Given the description of an element on the screen output the (x, y) to click on. 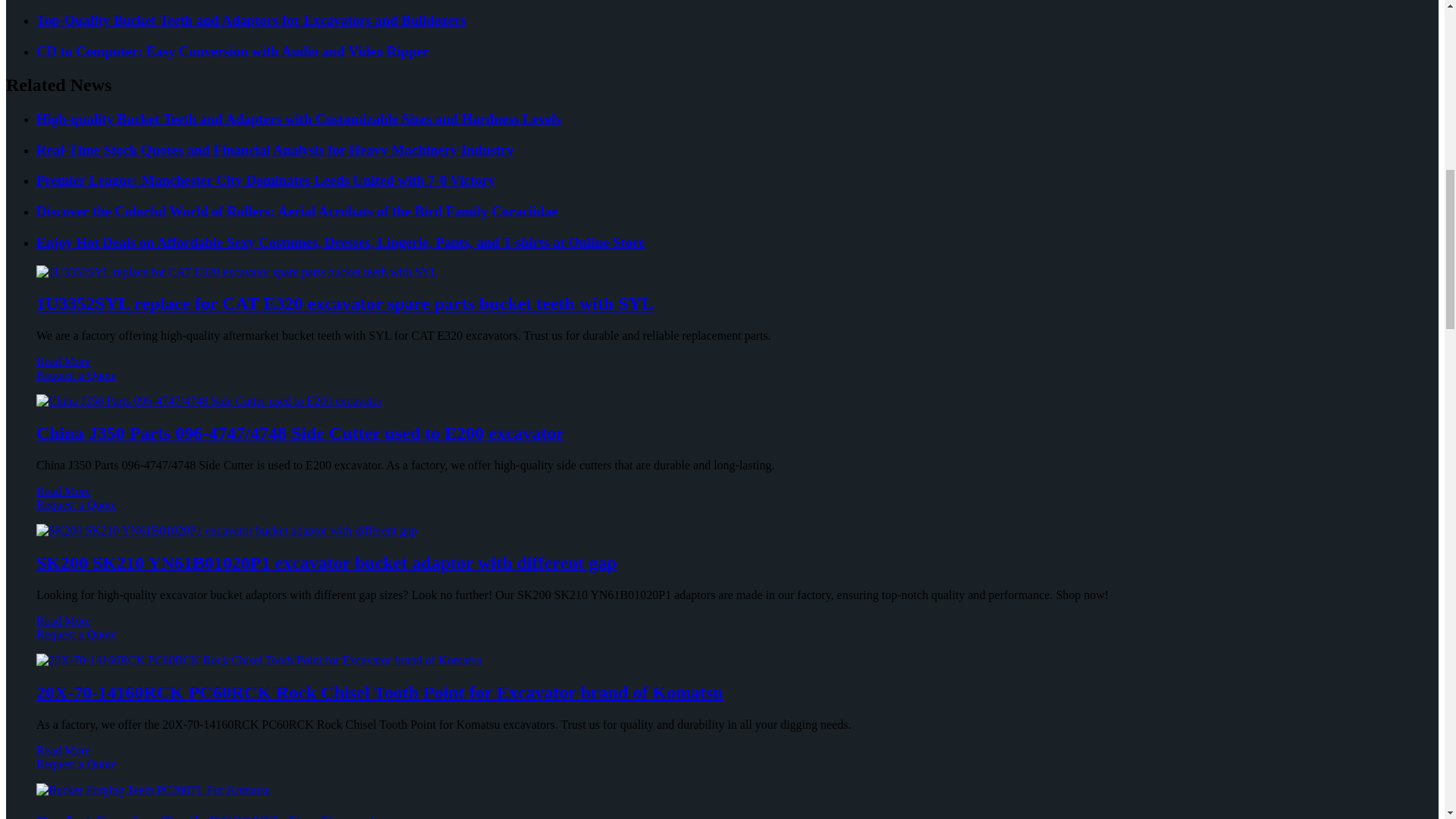
Request a Quote (721, 381)
Read More (63, 360)
